Given the description of an element on the screen output the (x, y) to click on. 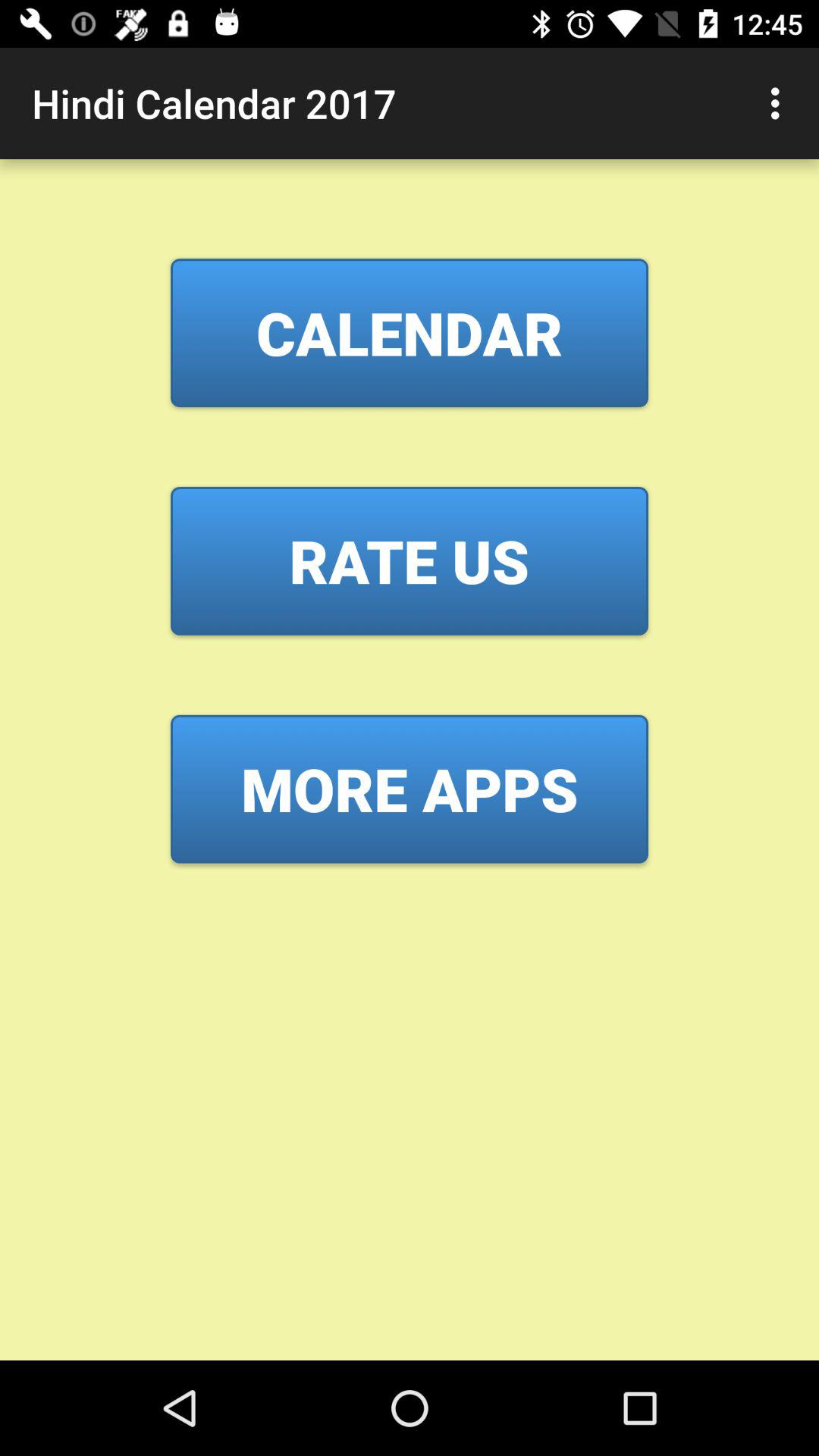
swipe until the more apps item (409, 788)
